Given the description of an element on the screen output the (x, y) to click on. 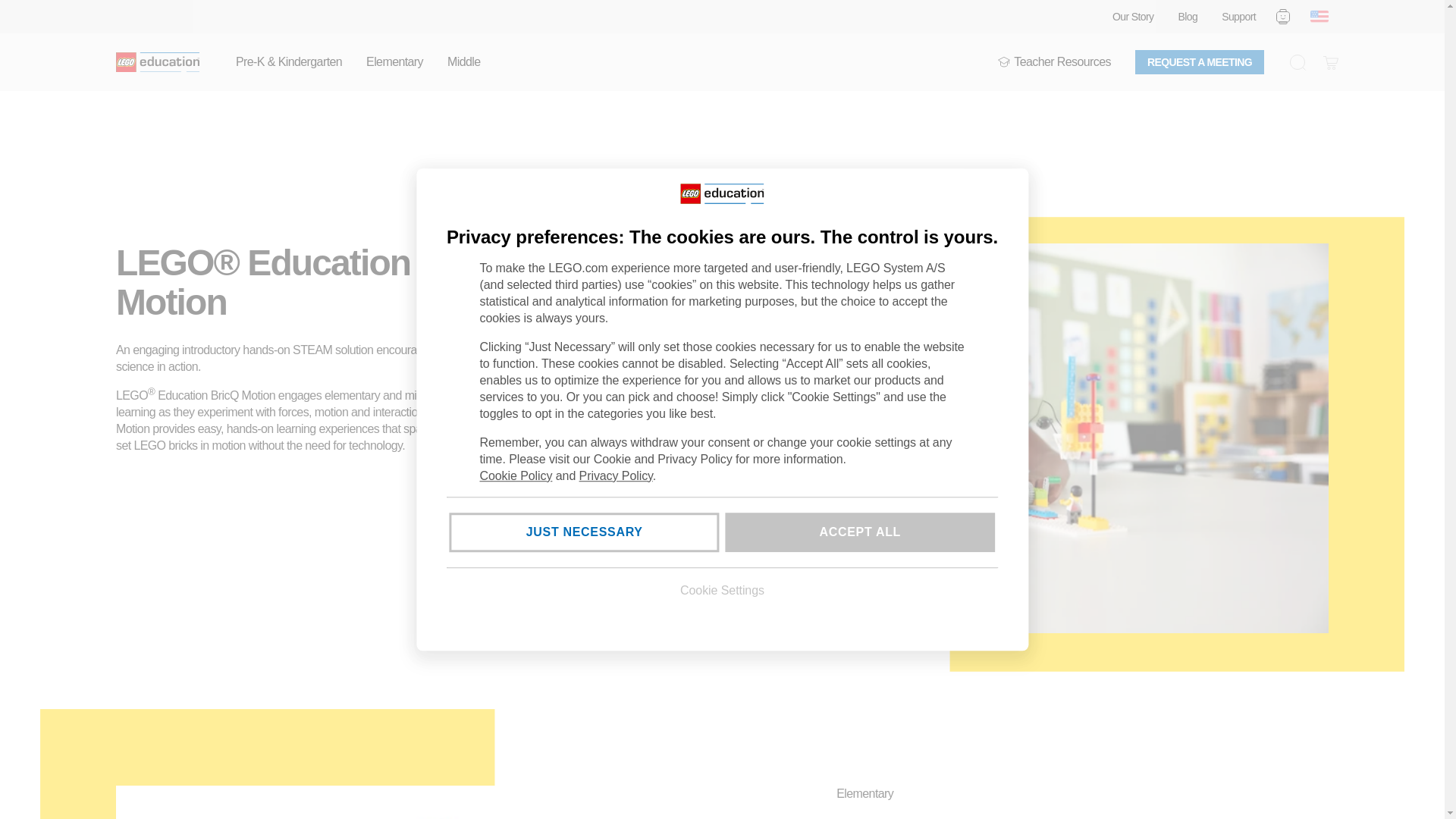
Teacher Resources (1053, 62)
SEARCH (1297, 62)
Support (1238, 16)
Elementary (394, 62)
CART (1330, 62)
Blog (1187, 16)
GRADE (1003, 61)
REQUEST A MEETING (1199, 61)
Middle (463, 62)
PROFILE (1283, 16)
Our Story (1133, 16)
